Given the description of an element on the screen output the (x, y) to click on. 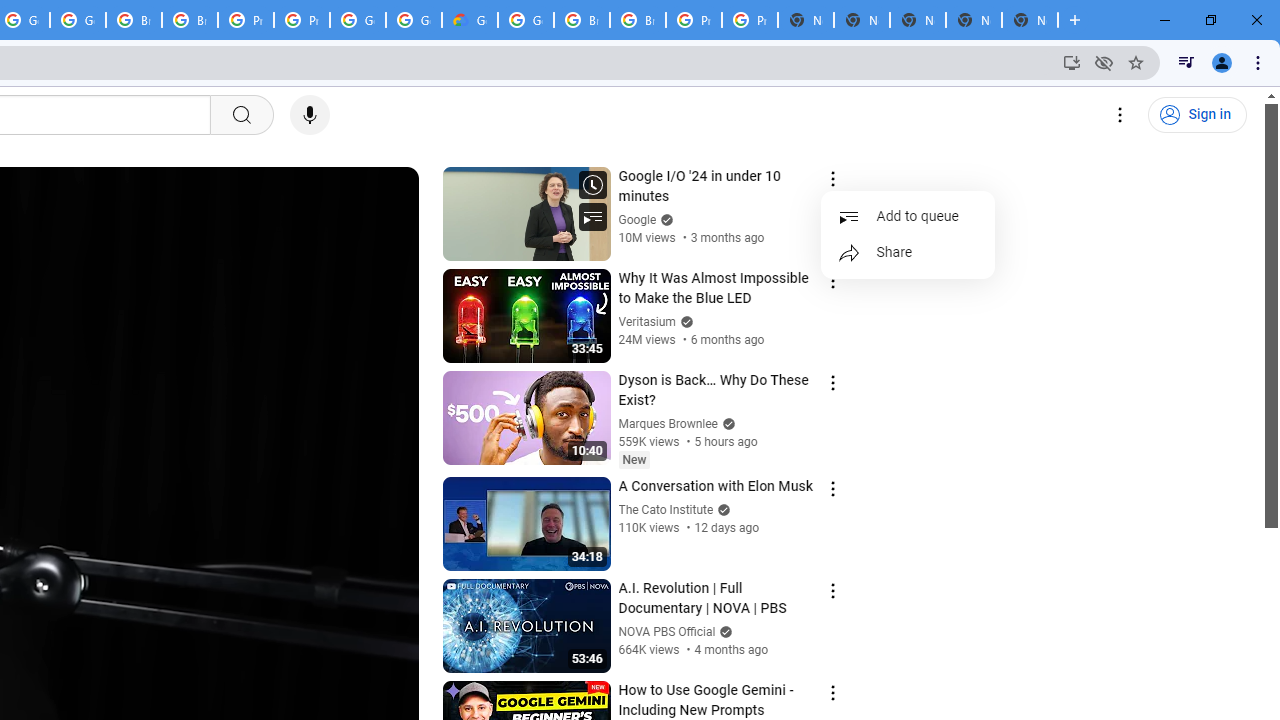
Settings (1119, 115)
Share (907, 252)
Browse Chrome as a guest - Computer - Google Chrome Help (134, 20)
Control your music, videos, and more (1185, 62)
Google Cloud Platform (525, 20)
Google Cloud Platform (413, 20)
New (634, 459)
Google Cloud Estimate Summary (469, 20)
